Given the description of an element on the screen output the (x, y) to click on. 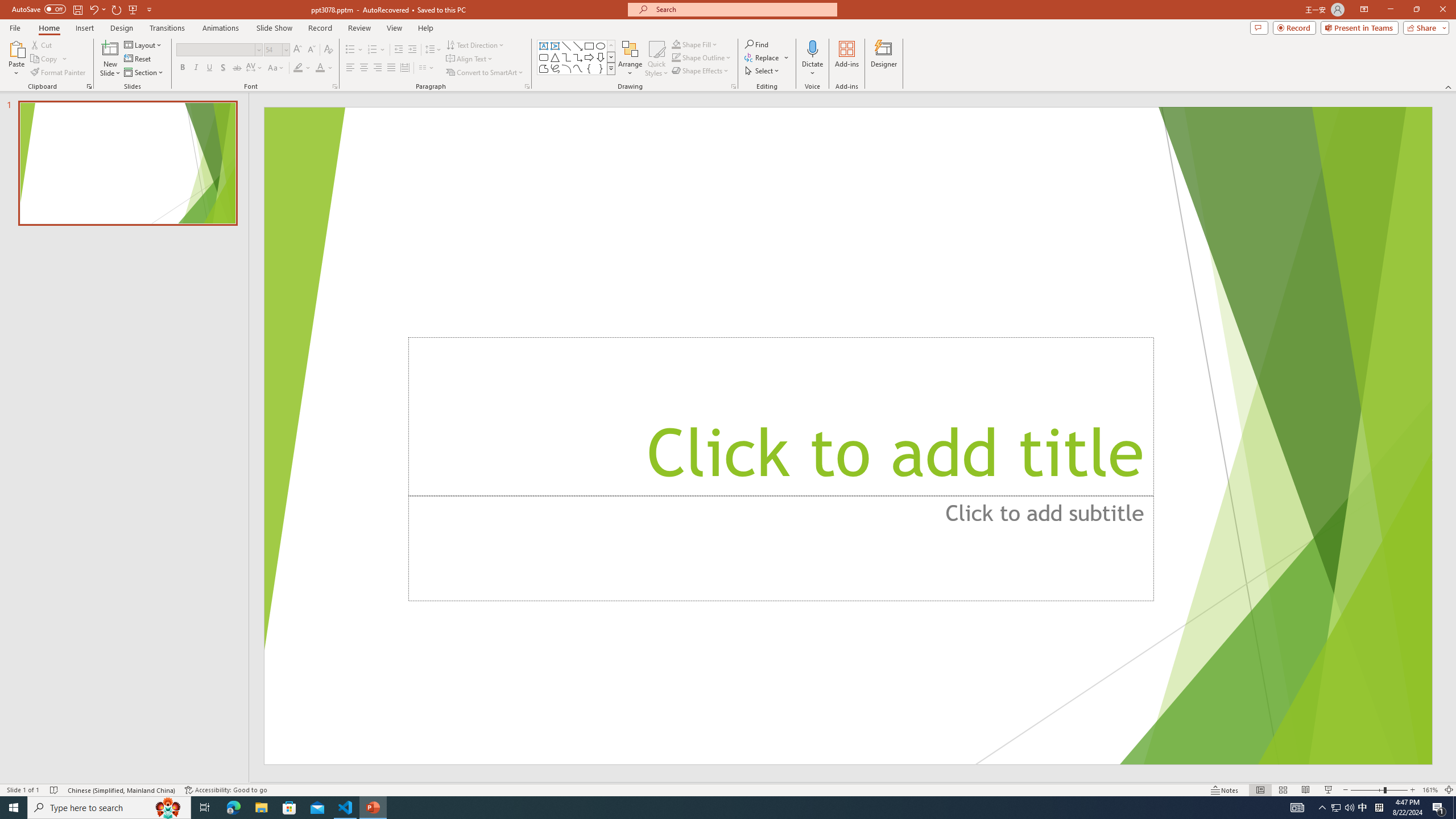
Strikethrough (237, 67)
Rectangle (589, 45)
Convert to SmartArt (485, 72)
Connector: Elbow Arrow (577, 57)
View (395, 28)
Designer (883, 58)
Accessibility Checker Accessibility: Good to go (226, 790)
New Slide (110, 58)
Line Spacing (433, 49)
Copy (45, 58)
Change Case (276, 67)
Minimize (1390, 9)
Distributed (404, 67)
Restore Down (1416, 9)
Paste (16, 58)
